Given the description of an element on the screen output the (x, y) to click on. 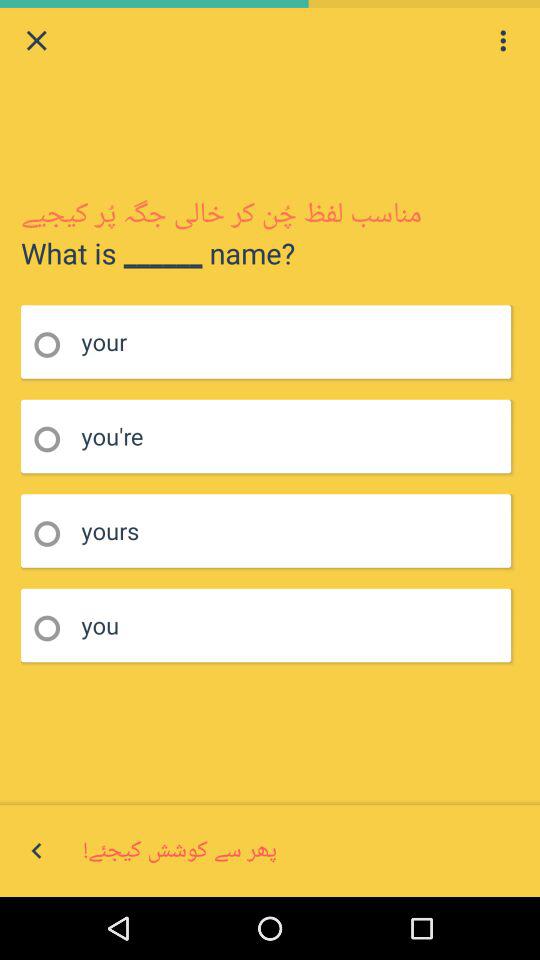
go to choose (53, 344)
